Given the description of an element on the screen output the (x, y) to click on. 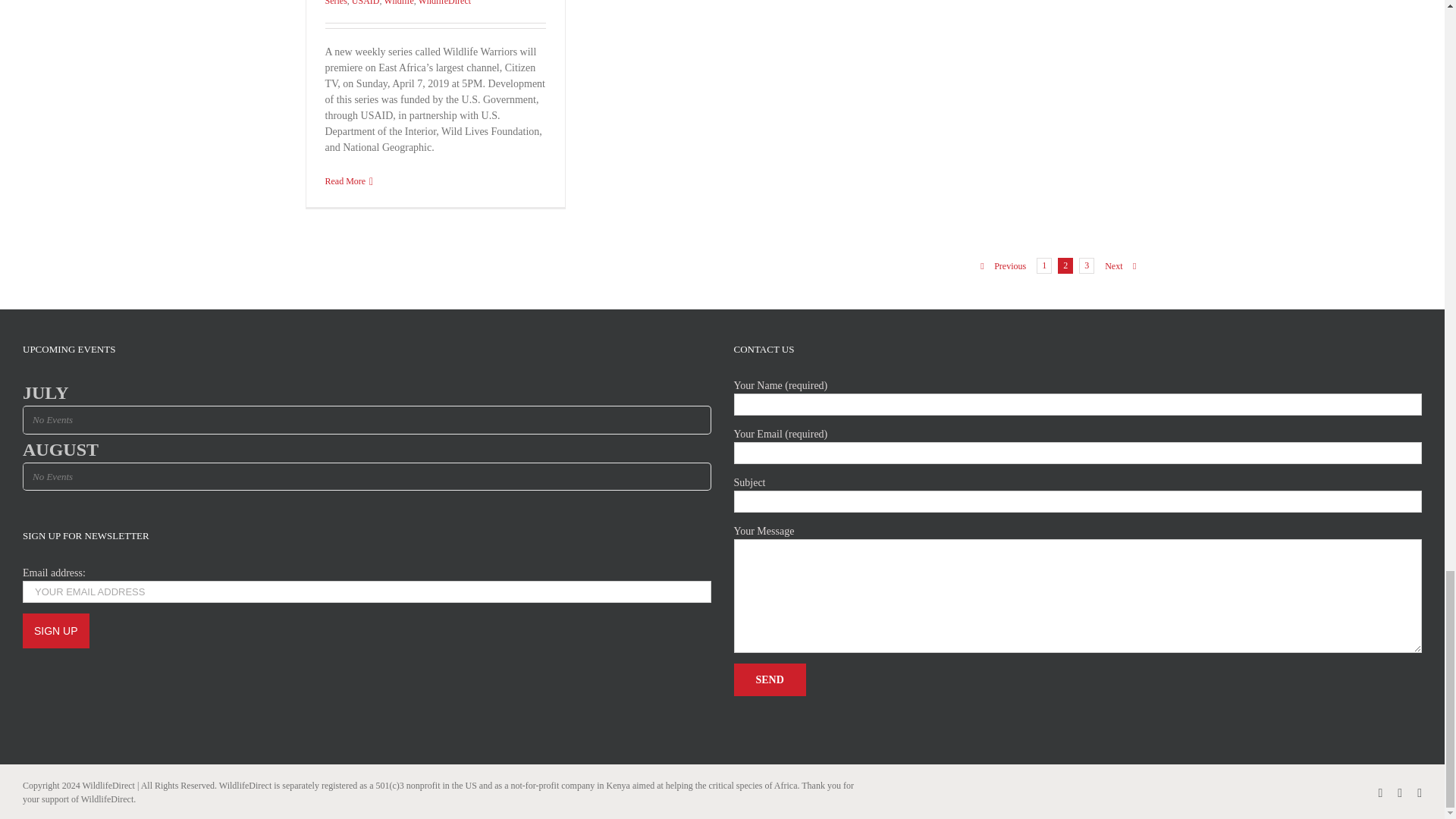
Sign up (55, 630)
Send (769, 679)
